Given the description of an element on the screen output the (x, y) to click on. 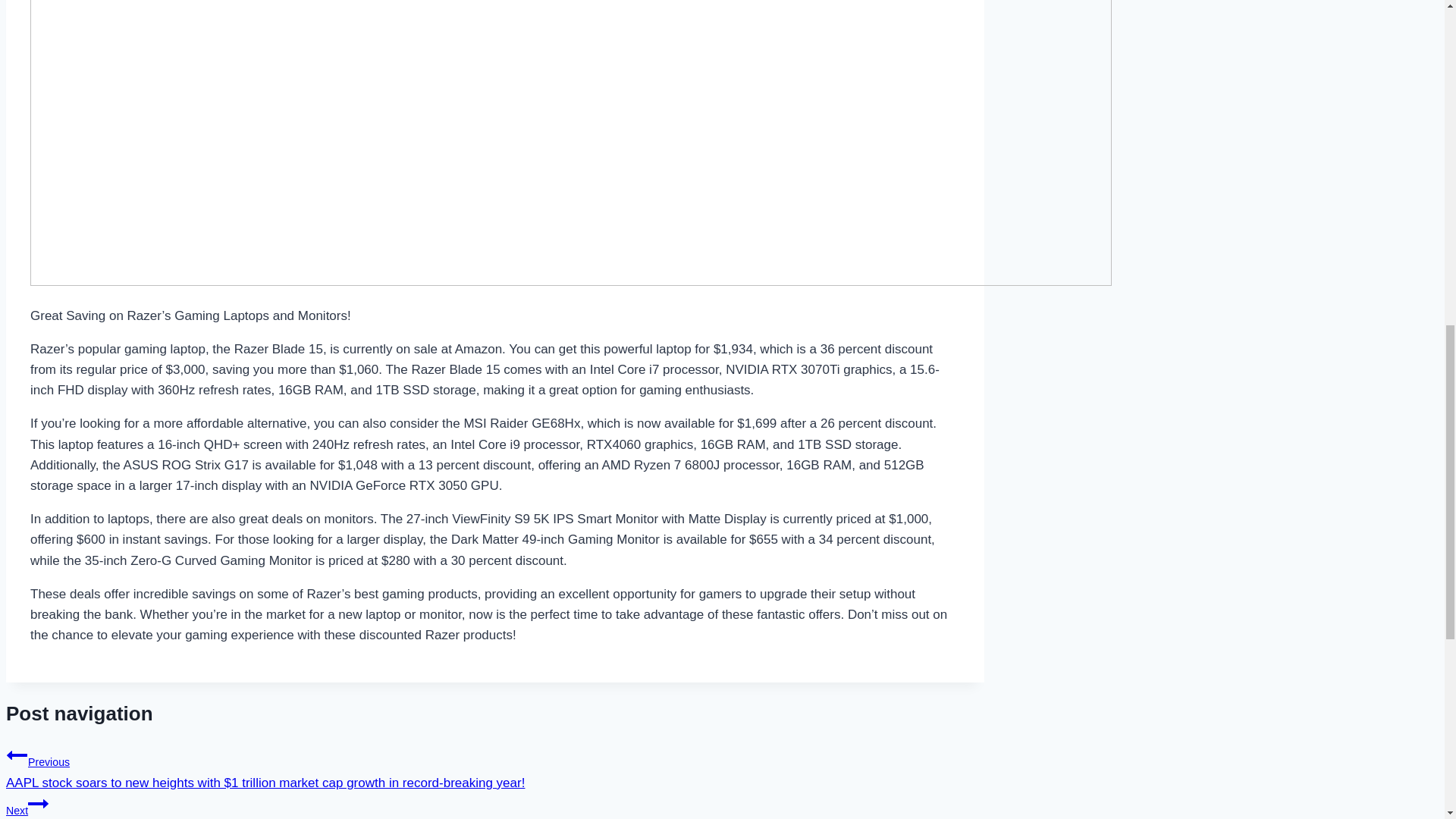
Previous (16, 754)
Continue (37, 803)
